Given the description of an element on the screen output the (x, y) to click on. 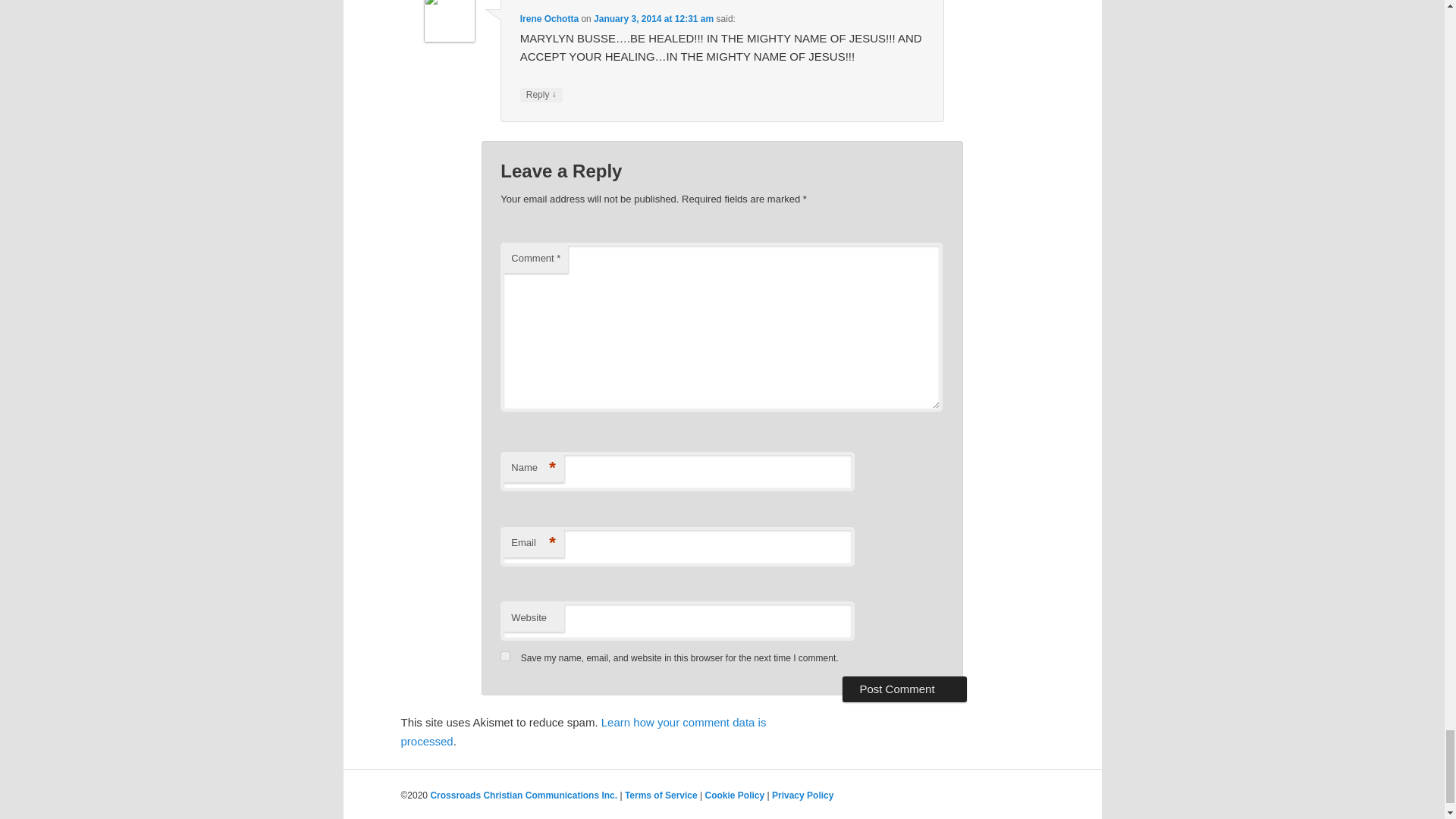
Post Comment (904, 688)
yes (505, 655)
